Given the description of an element on the screen output the (x, y) to click on. 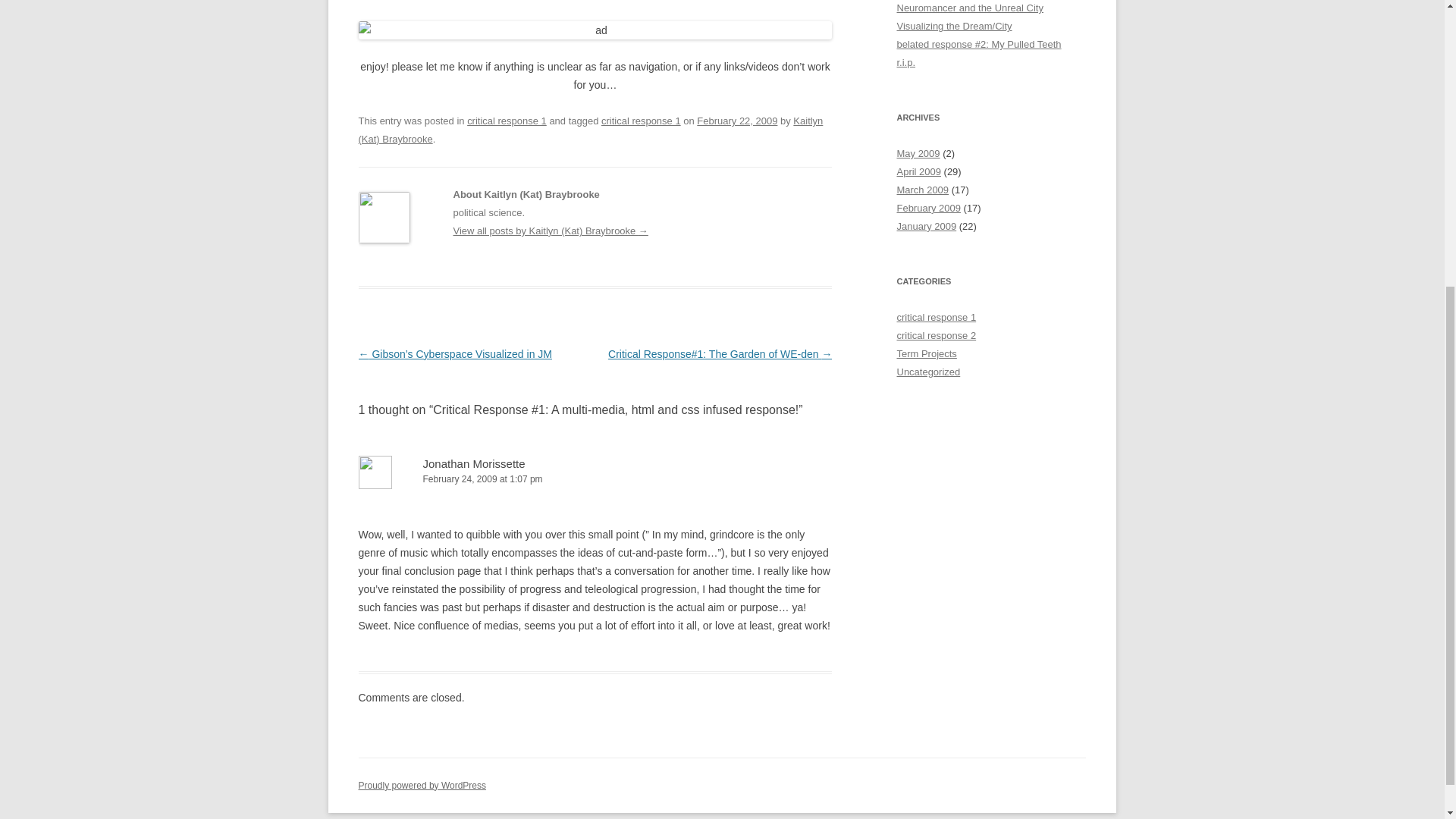
critical response 2 (935, 335)
April 2009 (918, 171)
March 2009 (922, 189)
Semantic Personal Publishing Platform (422, 785)
February 2009 (927, 207)
Proudly powered by WordPress (422, 785)
Uncategorized (927, 371)
critical response 1 (507, 120)
6:08 pm (737, 120)
Neuromancer and the Unreal City (969, 7)
Term Projects (926, 353)
January 2009 (926, 225)
February 22, 2009 (737, 120)
critical response 1 (641, 120)
critical response 1 (935, 317)
